Given the description of an element on the screen output the (x, y) to click on. 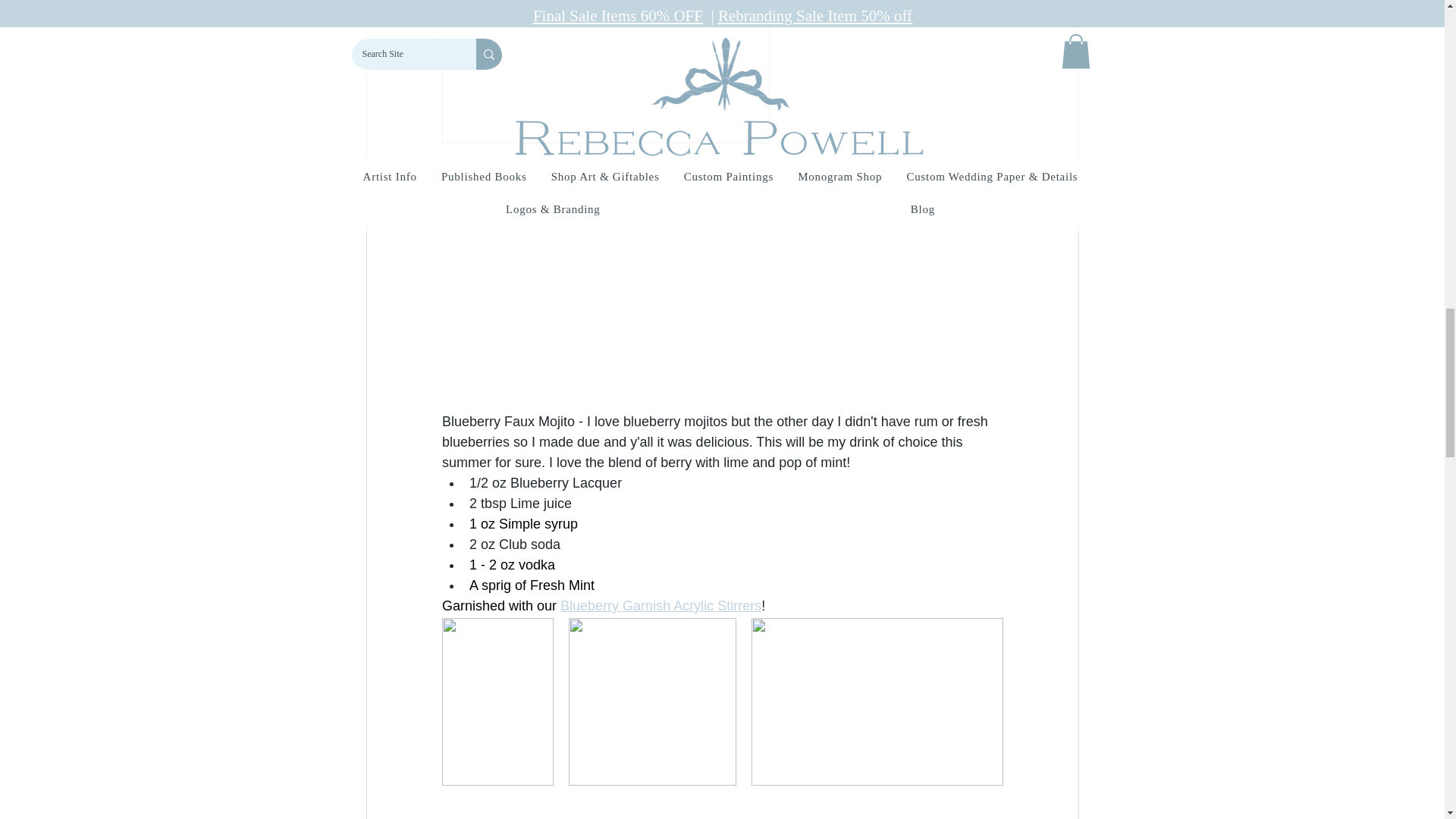
Blueberry Garnish Acrylic Stirrers (660, 605)
